Given the description of an element on the screen output the (x, y) to click on. 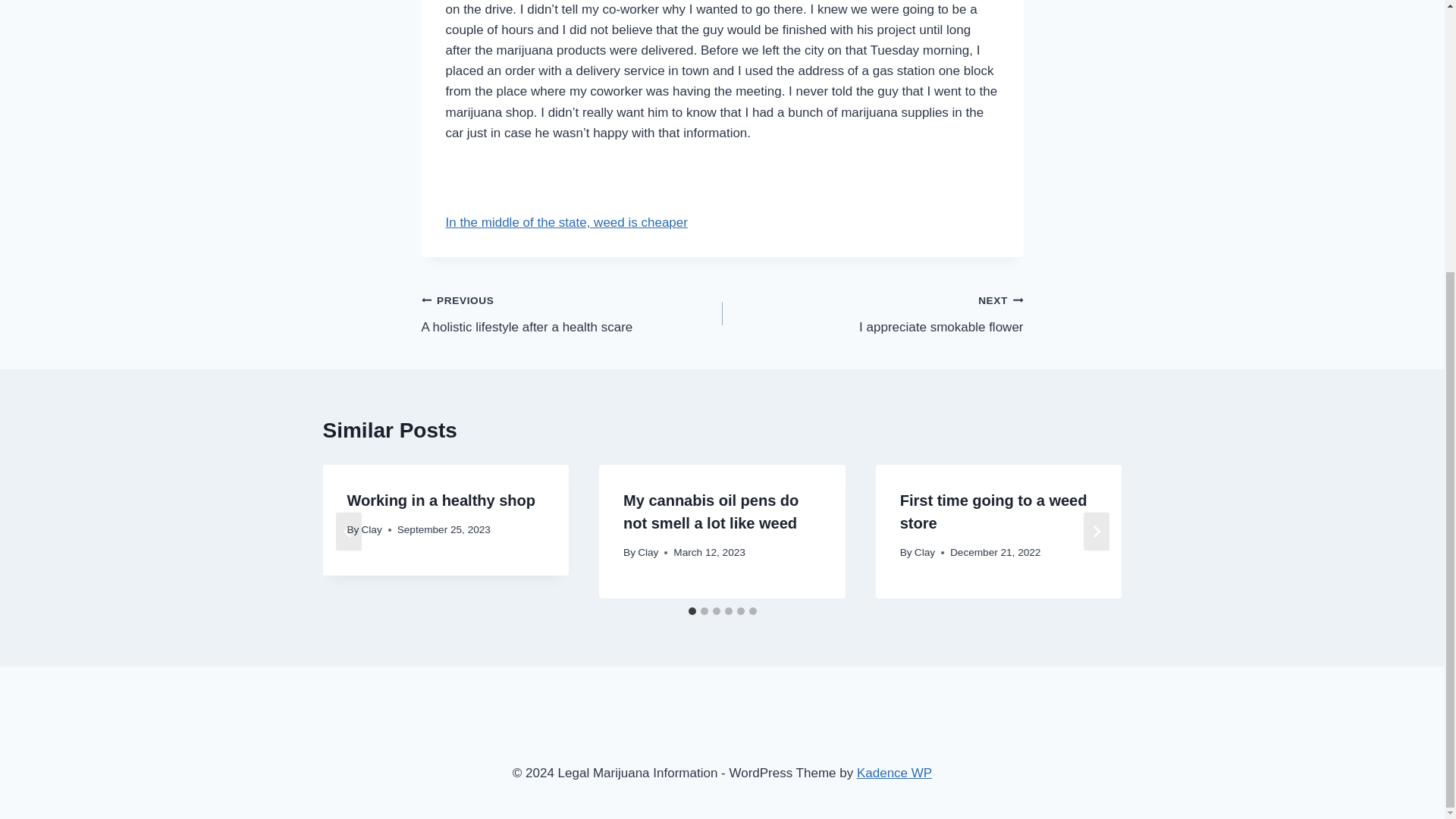
In the middle of the state, weed is cheaper (572, 313)
Clay (566, 222)
Working in a healthy shop (371, 529)
